Given the description of an element on the screen output the (x, y) to click on. 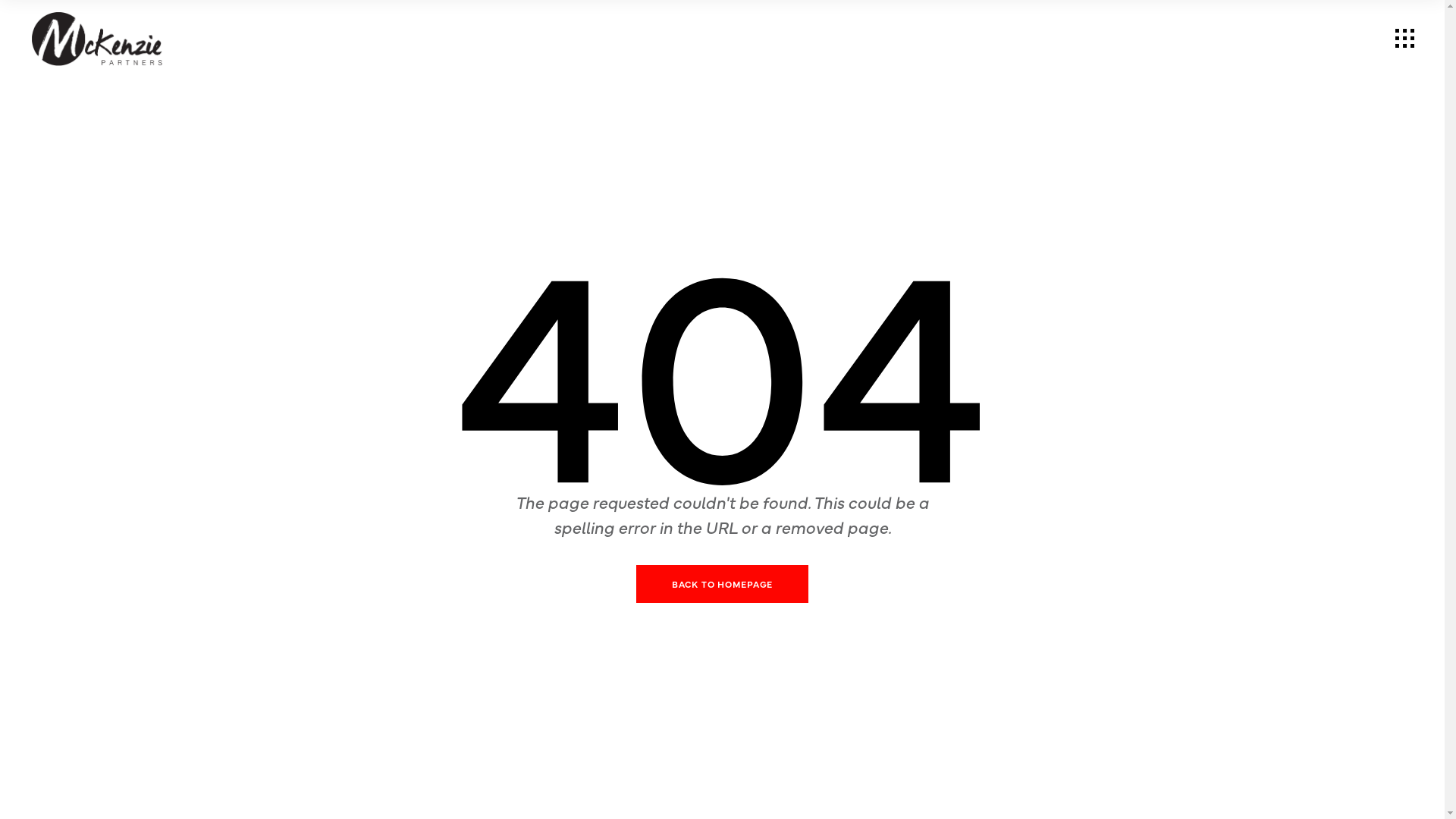
BACK TO HOMEPAGE Element type: text (722, 583)
